Given the description of an element on the screen output the (x, y) to click on. 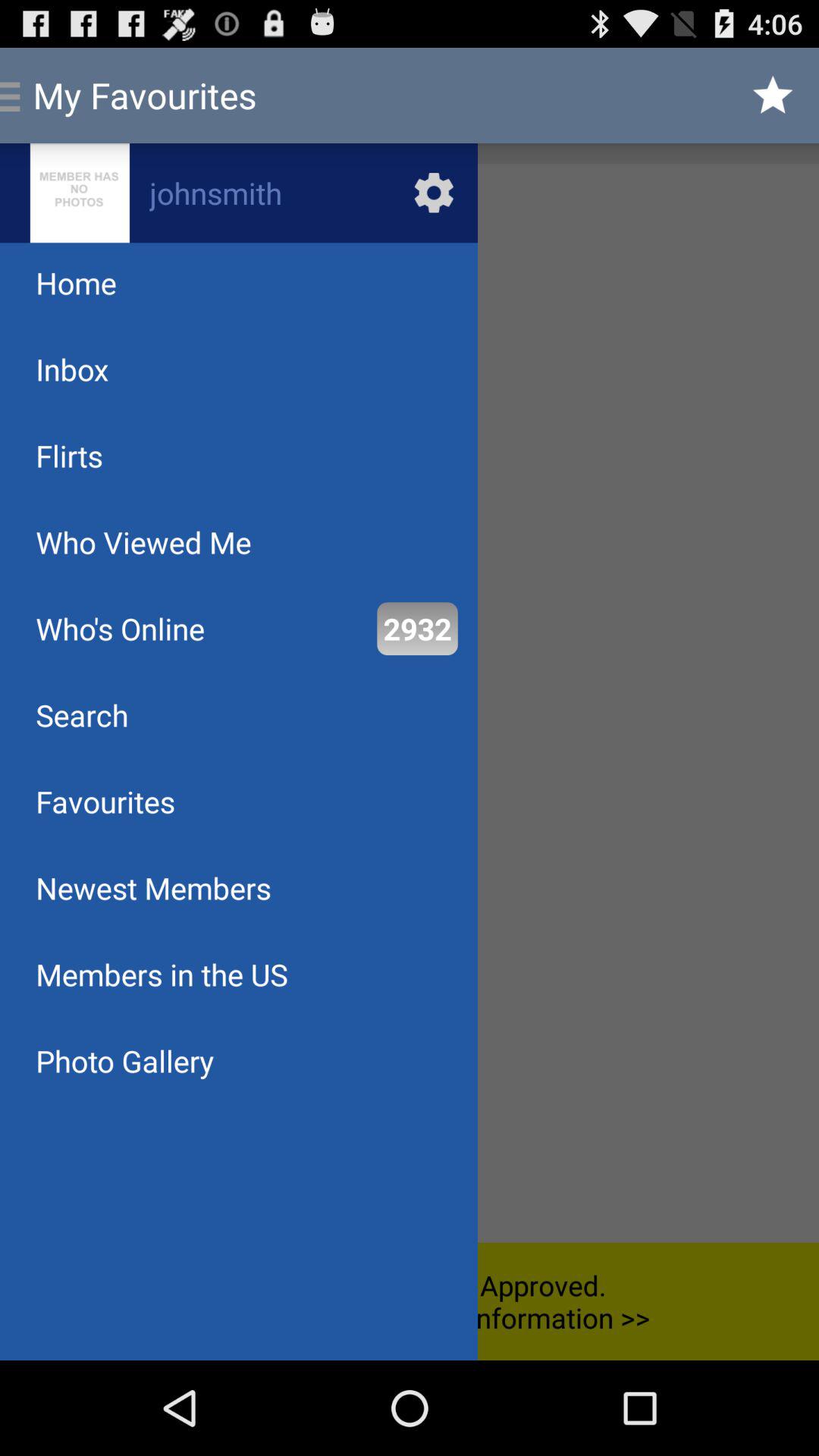
click the app below the inbox (68, 455)
